Given the description of an element on the screen output the (x, y) to click on. 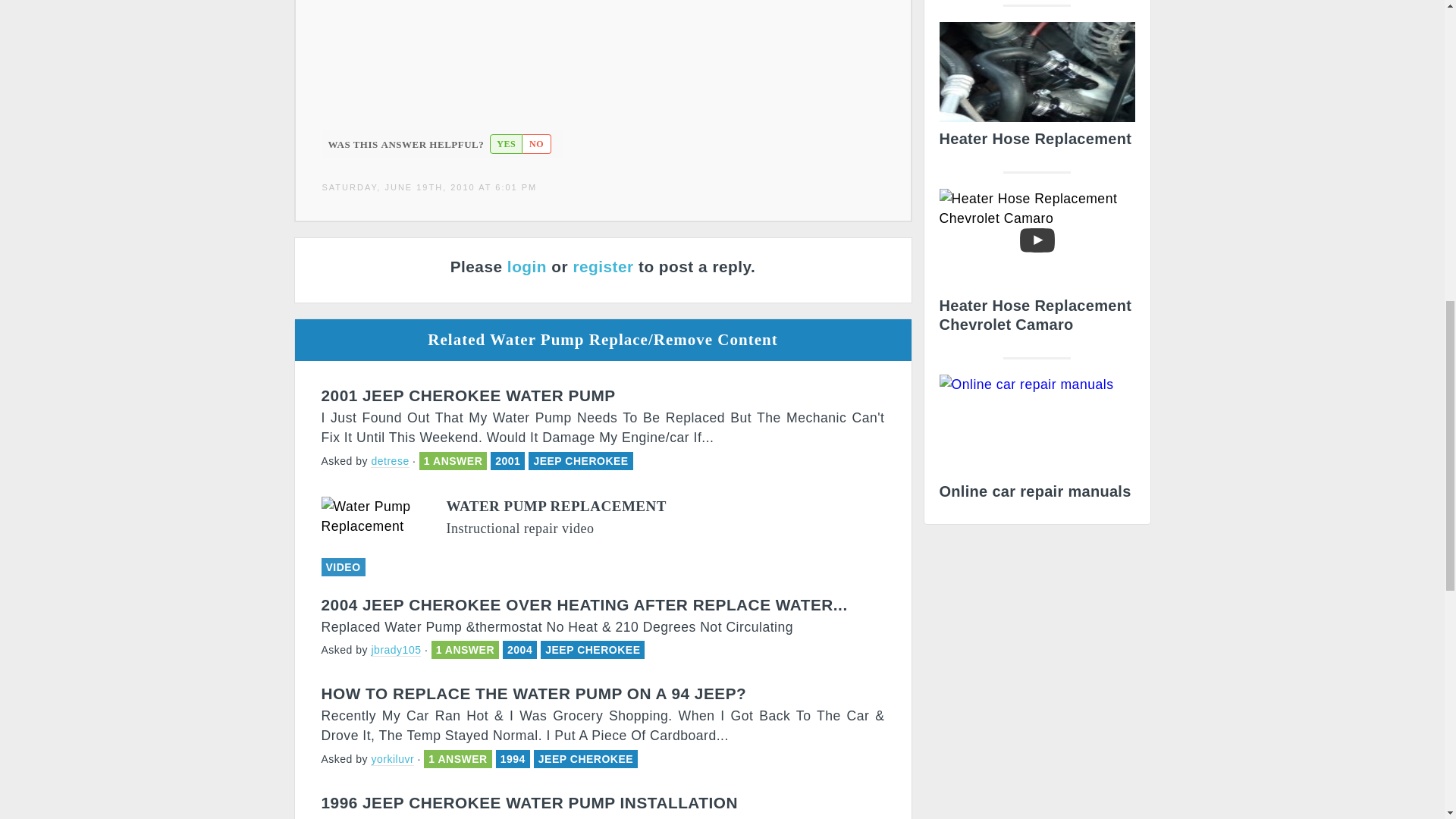
detrese (390, 461)
jbrady105 (395, 649)
JEEP CHEROKEE (592, 649)
JEEP CHEROKEE (585, 758)
yorkiluvr (392, 758)
login (526, 266)
Heater Hose Replacement (1036, 89)
Car Manual (1036, 441)
JEEP CHEROKEE (579, 460)
